Given the description of an element on the screen output the (x, y) to click on. 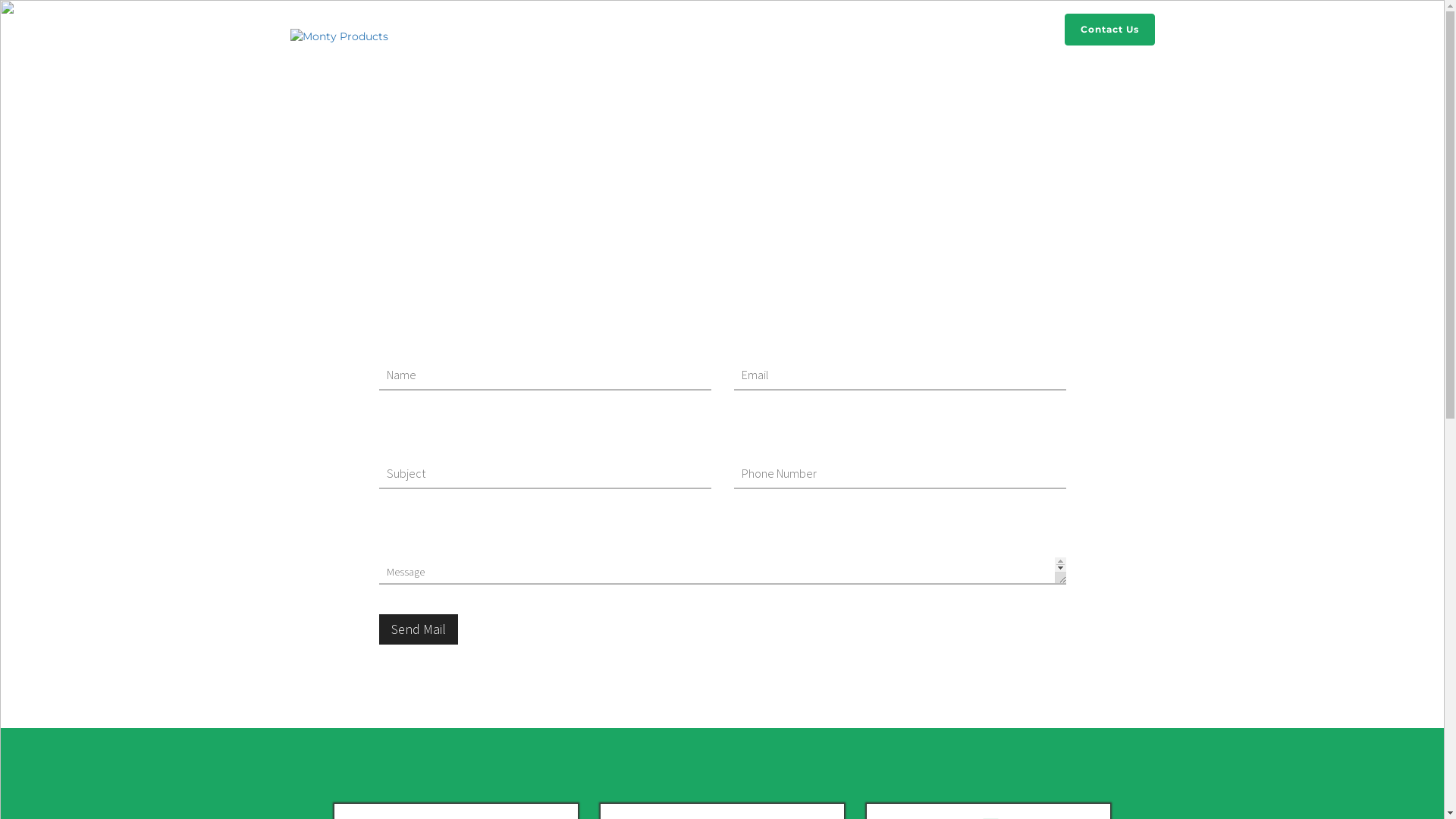
Send Mail Element type: text (418, 629)
Kemroc Element type: text (965, 30)
Montabert Element type: text (712, 30)
Contact Us Element type: text (1109, 29)
Rotar Element type: text (1018, 30)
Pneuvibe Element type: text (902, 30)
Oilquick Couplers Element type: text (811, 30)
